Given the description of an element on the screen output the (x, y) to click on. 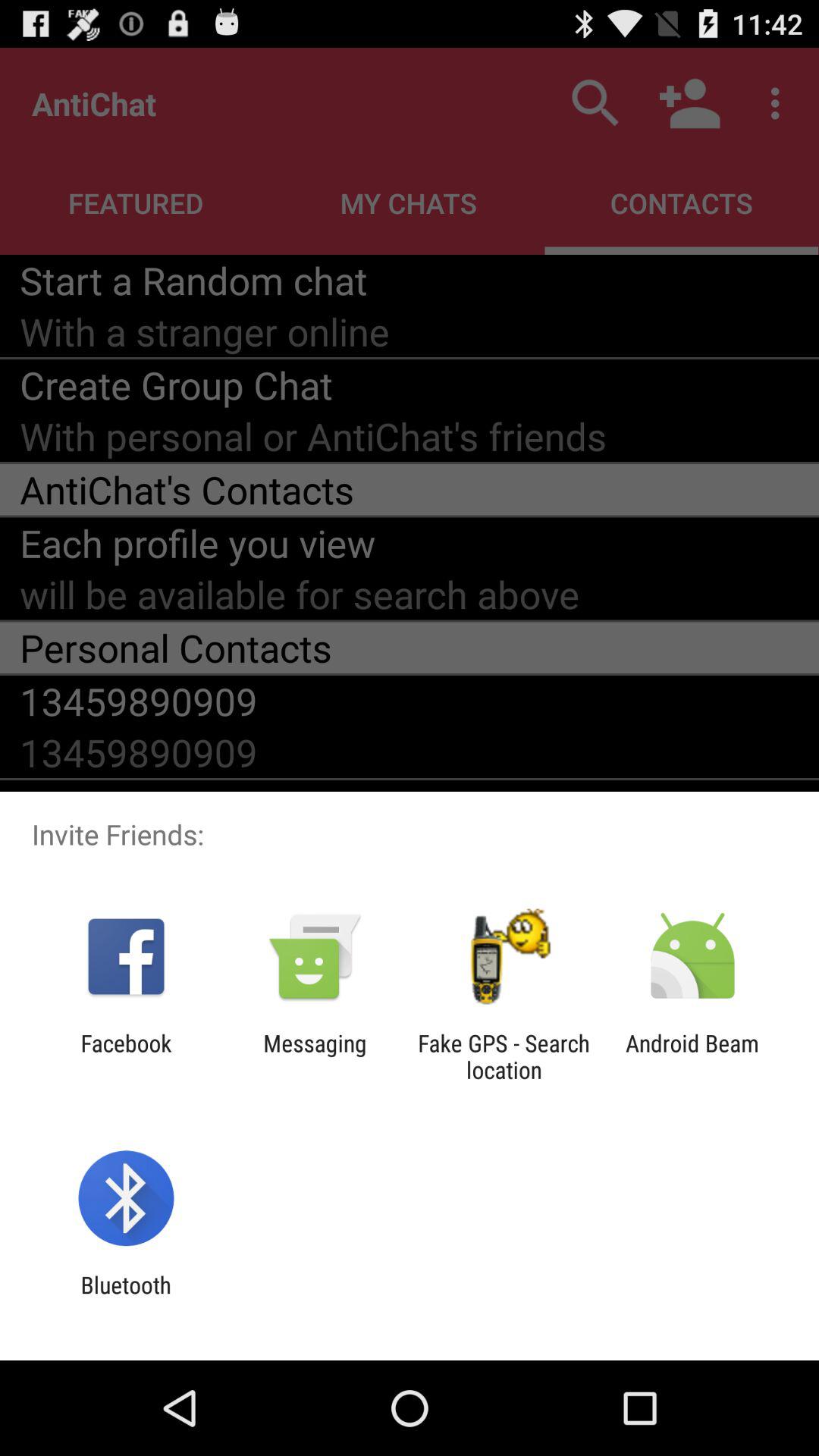
scroll to the android beam (692, 1056)
